Given the description of an element on the screen output the (x, y) to click on. 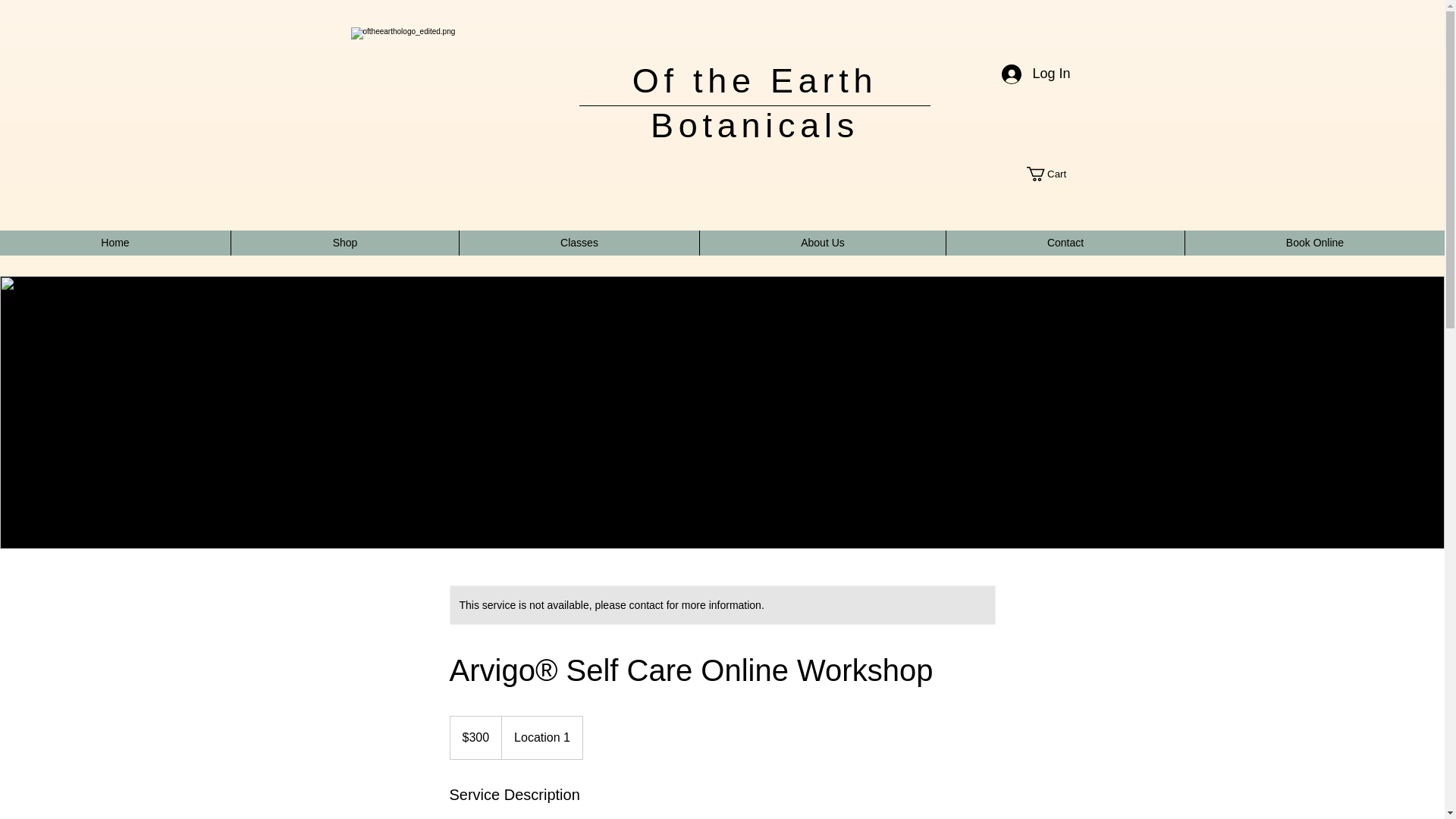
Cart (1053, 173)
Home (115, 242)
Log In (1035, 73)
Classes (578, 242)
Shop (344, 242)
Cart (1053, 173)
Contact (1064, 242)
About Us (821, 242)
